Given the description of an element on the screen output the (x, y) to click on. 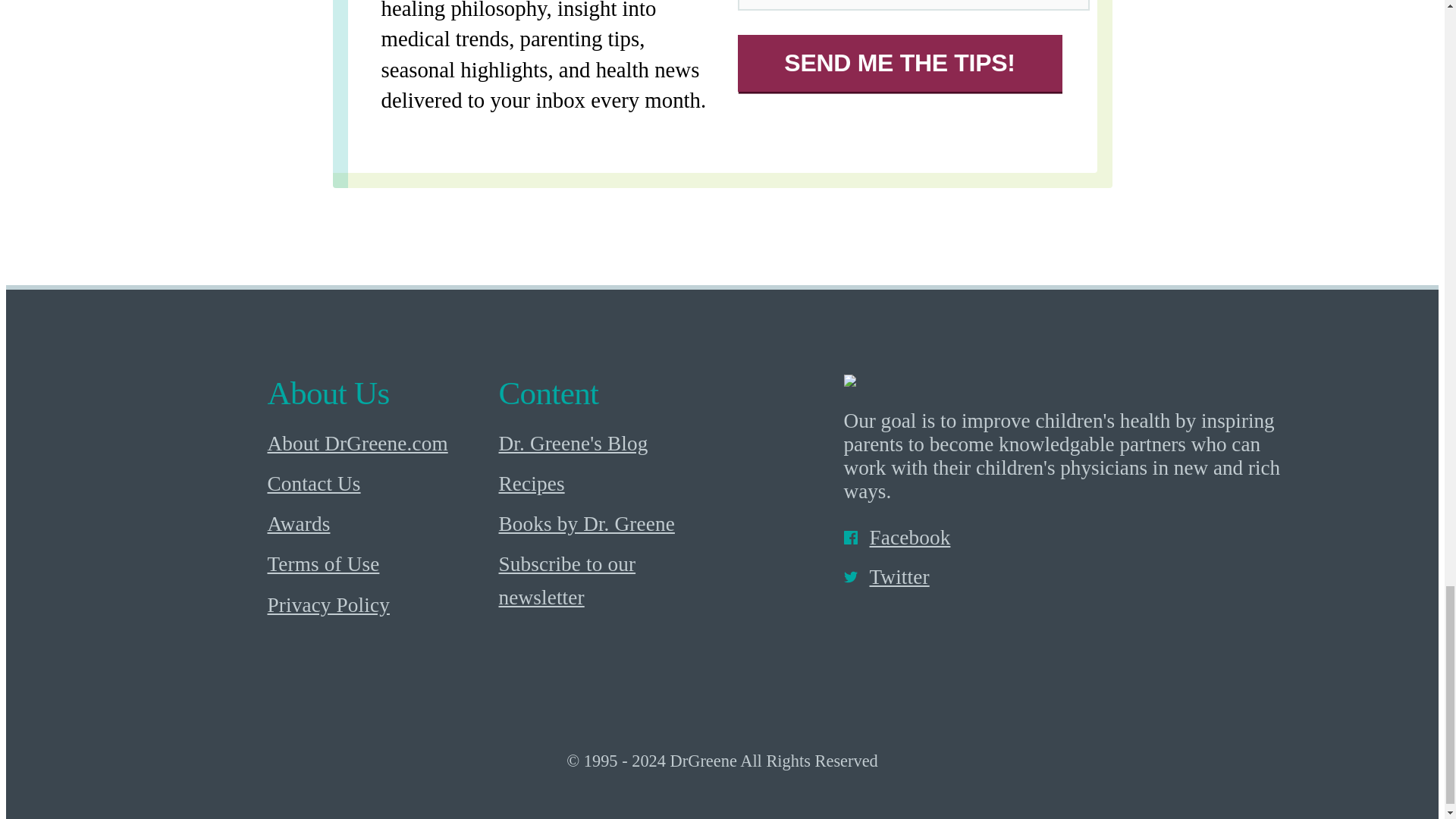
Facebook (1066, 538)
Terms of Use (378, 565)
SEND ME THE TIPS! (898, 63)
Twitter (1066, 578)
Awards (378, 525)
Privacy Policy (378, 605)
Contact Us (378, 484)
Books by Dr. Greene (610, 525)
Recipes (610, 484)
Dr. Greene's Blog (610, 444)
Subscribe to our newsletter (610, 582)
About DrGreene.com (378, 444)
